Given the description of an element on the screen output the (x, y) to click on. 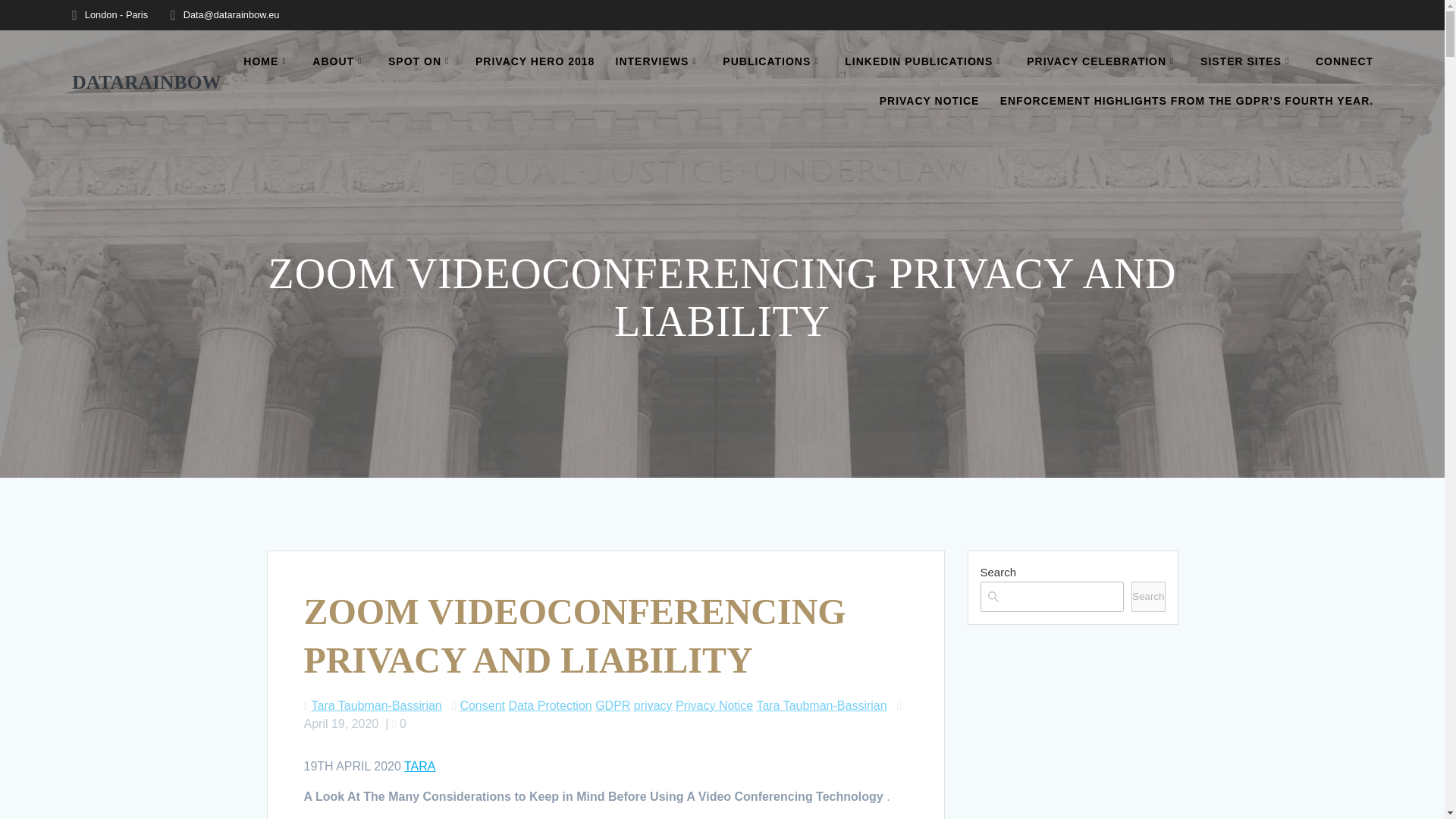
HOME (267, 62)
DATARAINBOW (146, 82)
SPOT ON (421, 62)
Posts by Tara Taubman-Bassirian (376, 705)
ABOUT (340, 62)
